Given the description of an element on the screen output the (x, y) to click on. 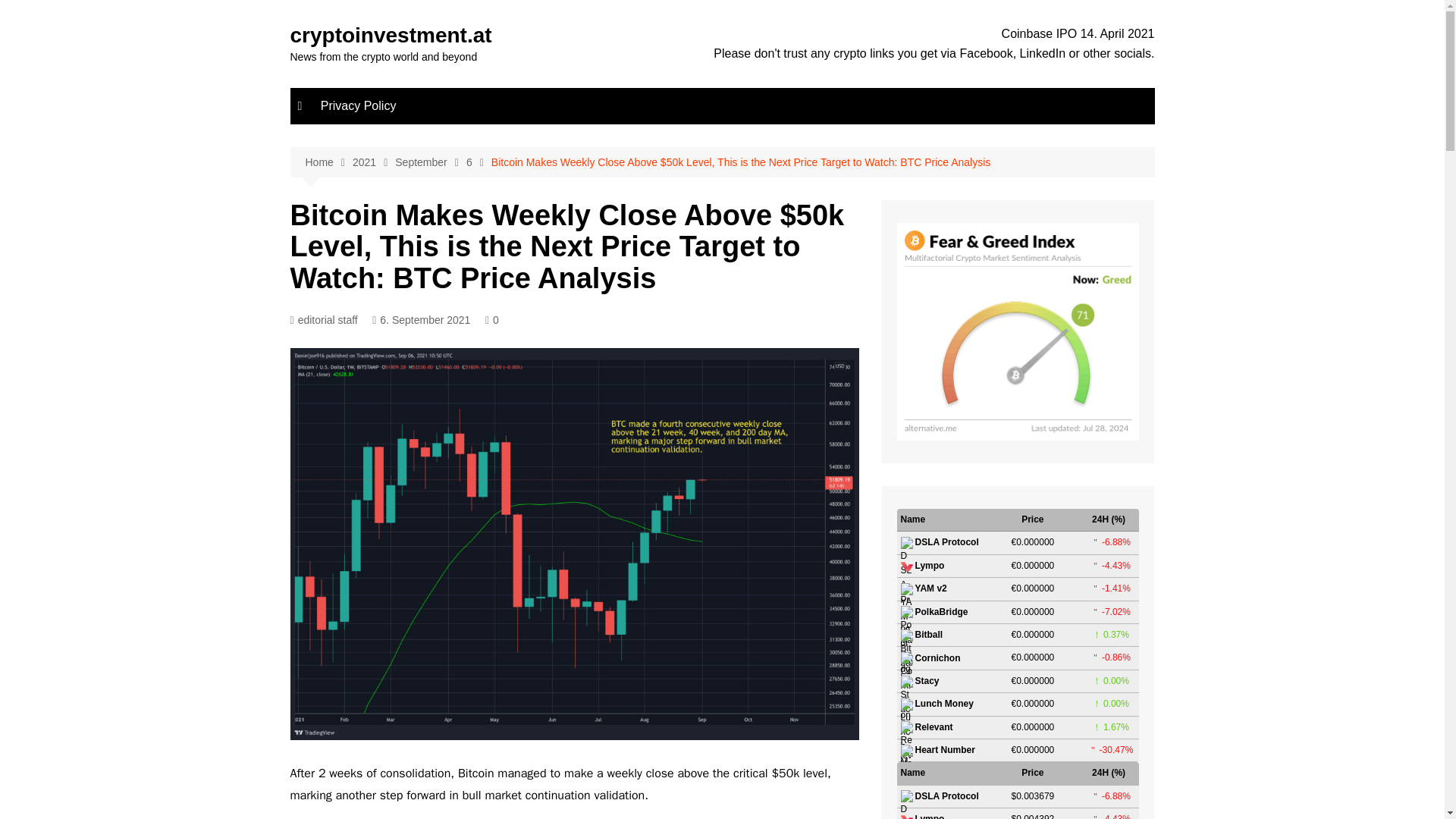
September (429, 162)
editorial staff (322, 320)
2021 (373, 162)
Home (328, 162)
Privacy Policy (358, 105)
6. September 2021 (421, 320)
6 (478, 162)
cryptoinvestment.at (390, 34)
